Given the description of an element on the screen output the (x, y) to click on. 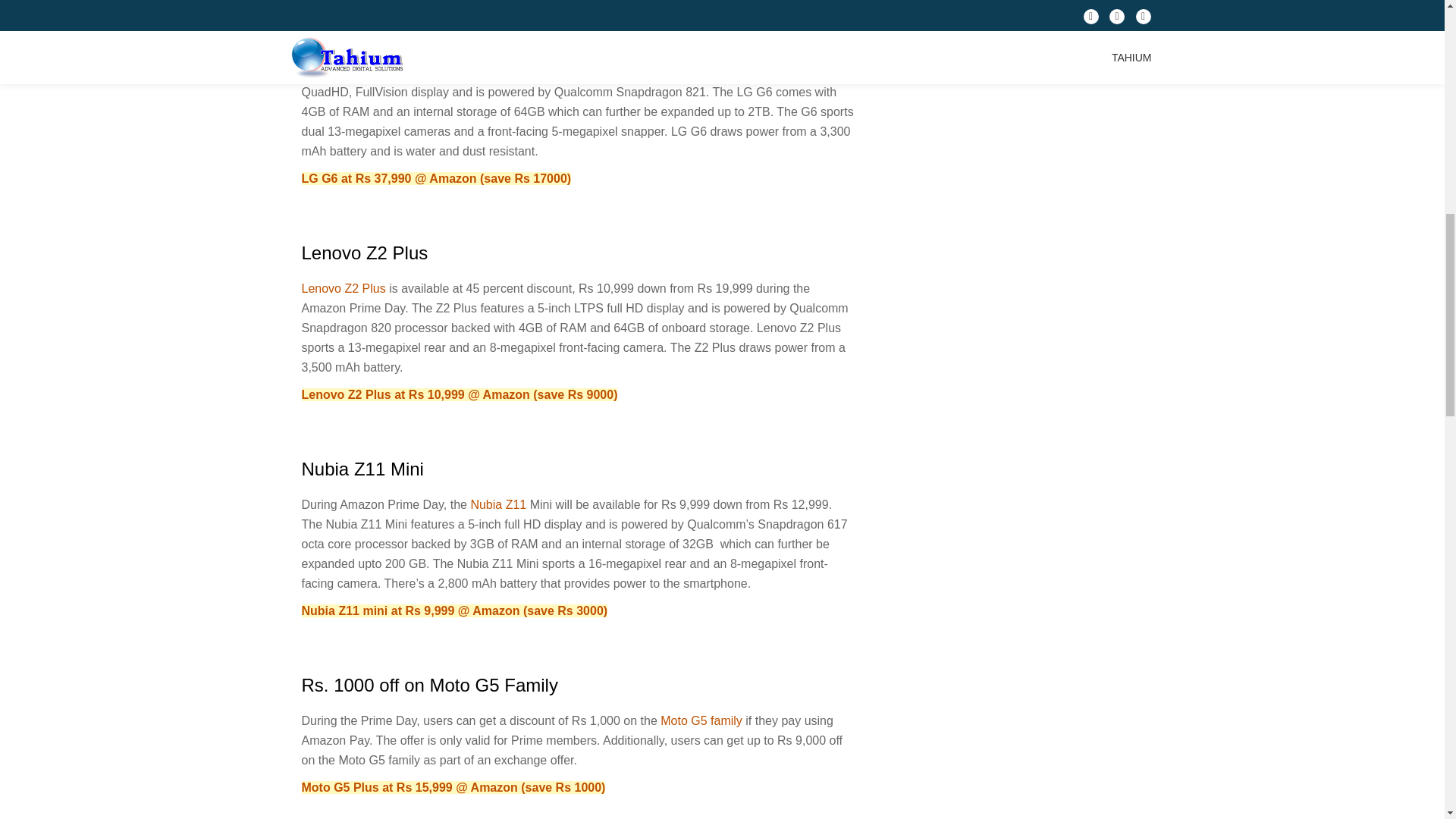
Lenovo Z2 Plus (343, 287)
LG G6 (482, 51)
Nubia Z11 (497, 504)
Moto G5 family (701, 720)
